Given the description of an element on the screen output the (x, y) to click on. 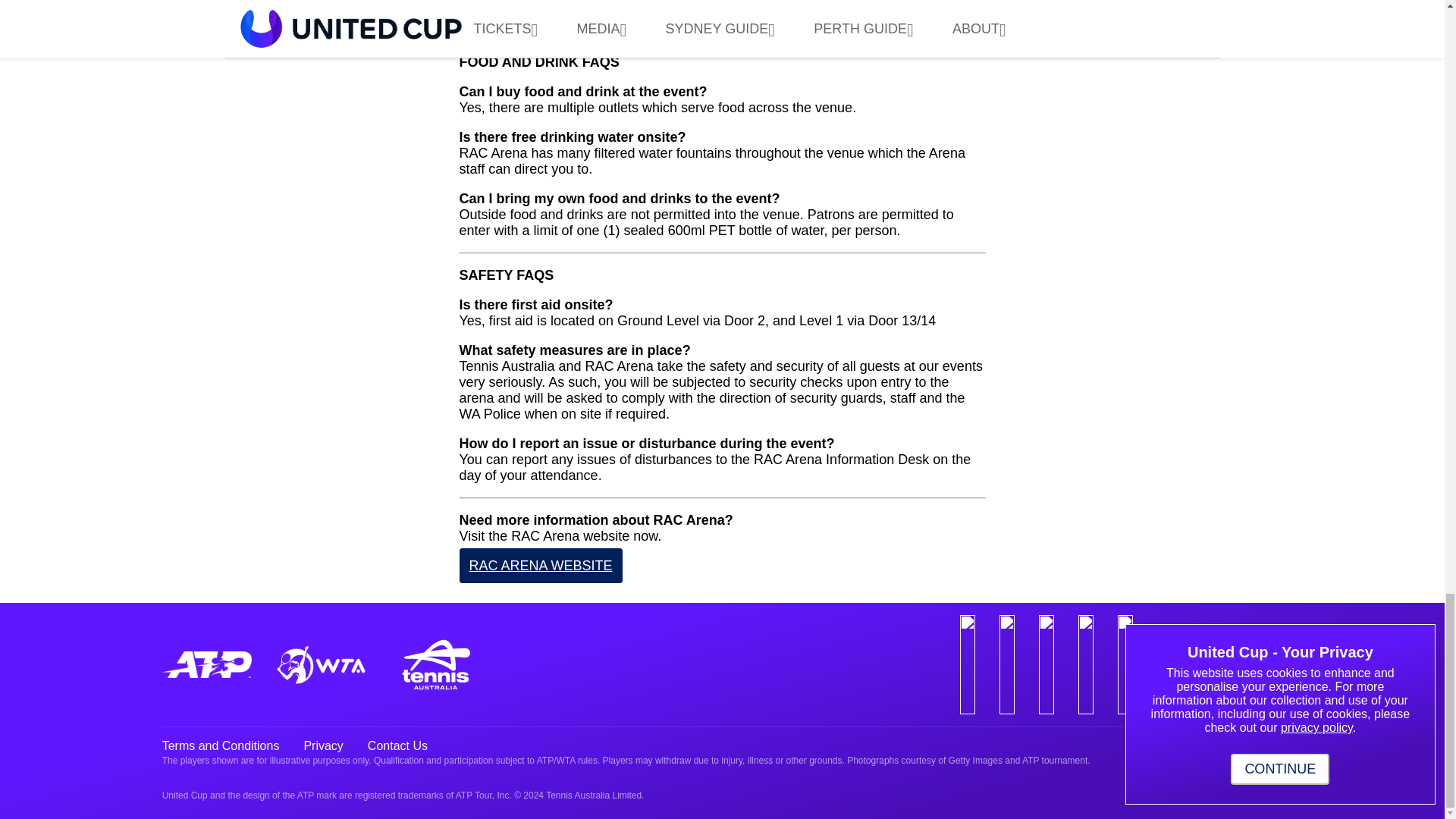
Terms and Conditions (220, 745)
RAC ARENA WEBSITE (541, 565)
here (724, 17)
